Given the description of an element on the screen output the (x, y) to click on. 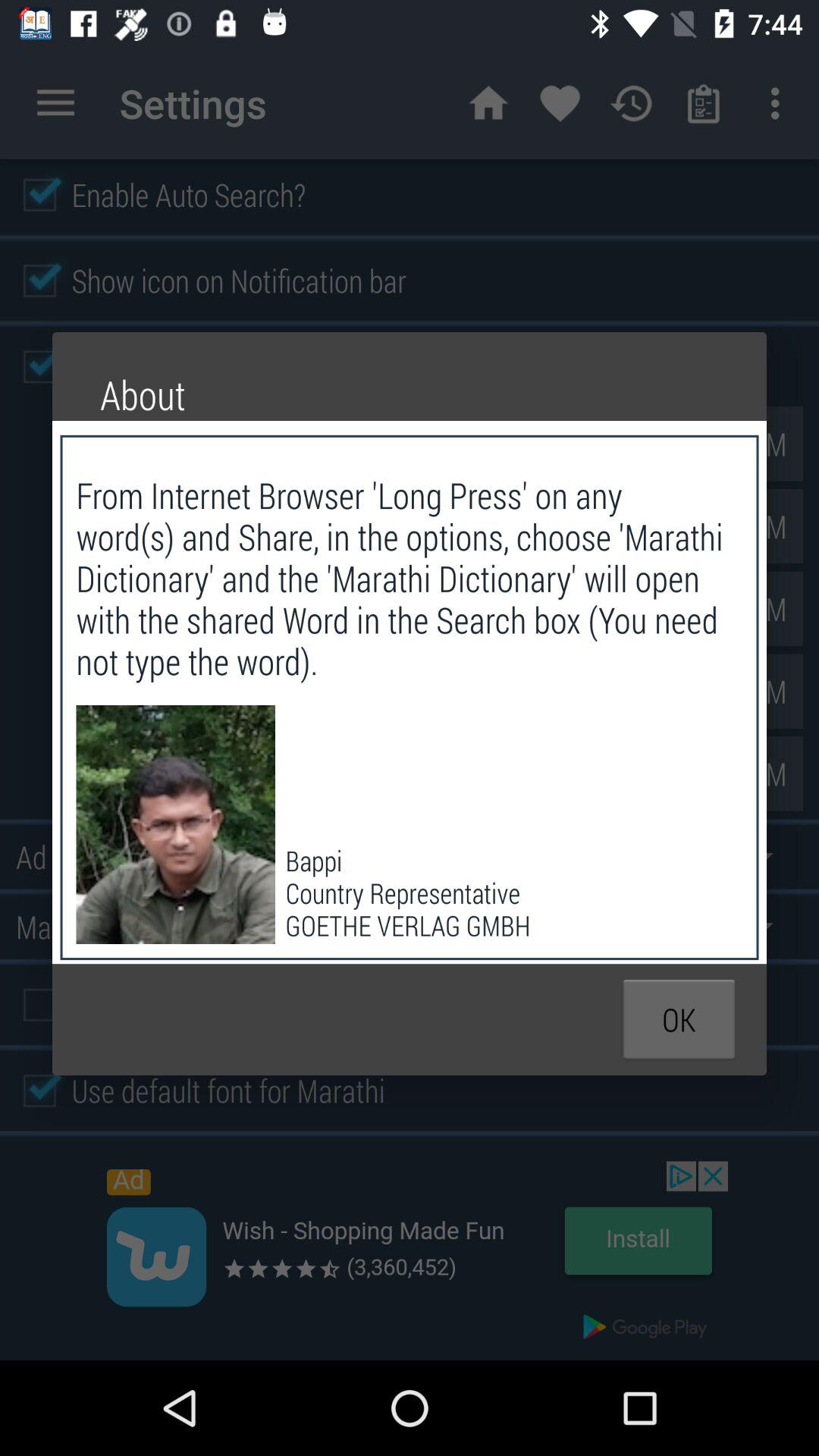
select item at the bottom right corner (678, 1019)
